Given the description of an element on the screen output the (x, y) to click on. 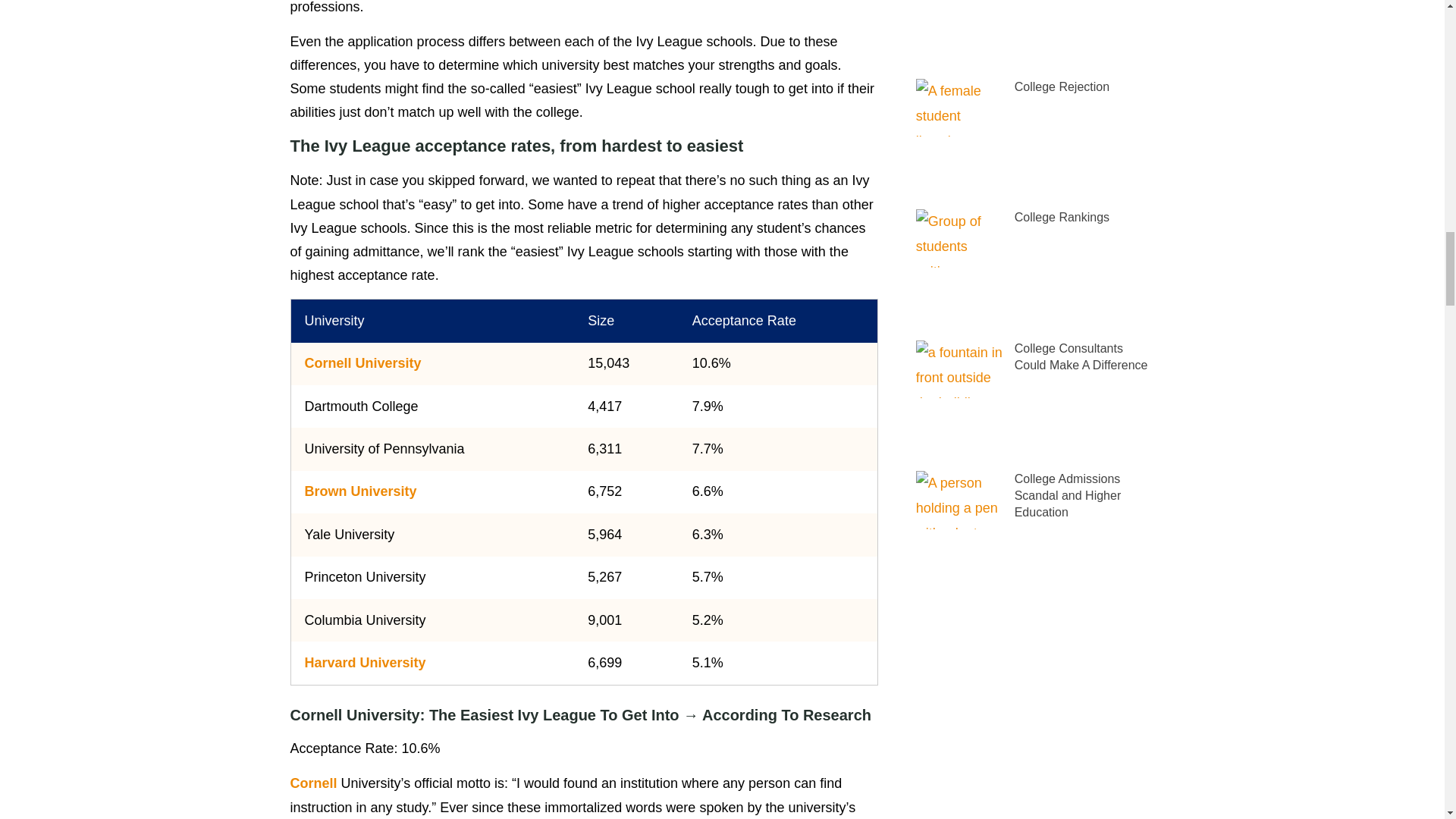
Cornell (312, 783)
